Given the description of an element on the screen output the (x, y) to click on. 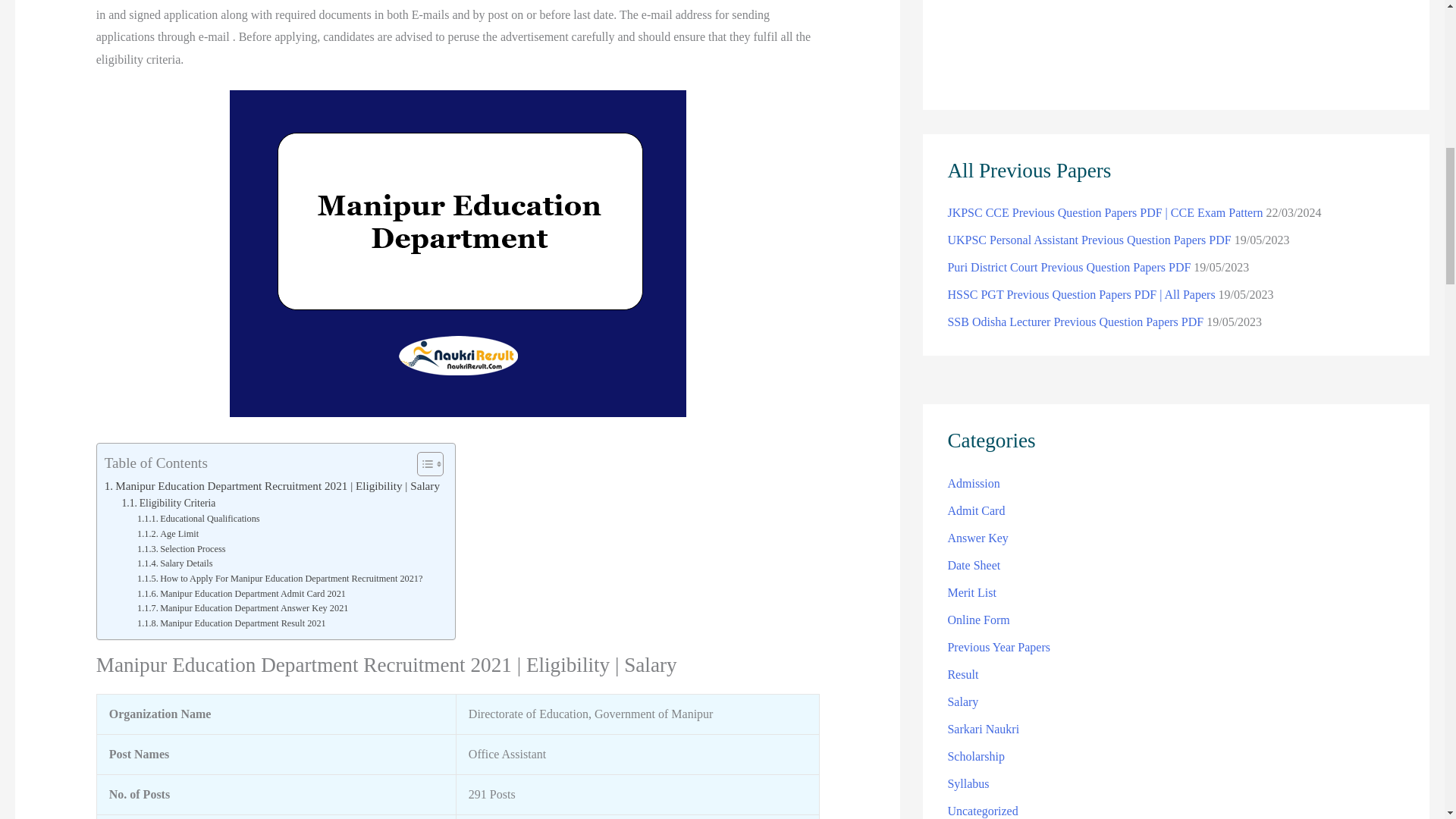
Advertisement (1175, 38)
Manipur Education Department Admit Card 2021 (241, 594)
Manipur Education Department Result 2021 (231, 623)
Eligibility Criteria (168, 503)
Educational Qualifications (198, 519)
Educational Qualifications (198, 519)
Selection Process (180, 548)
Manipur Education Department Answer Key 2021 (241, 608)
Salary Details (174, 563)
